Given the description of an element on the screen output the (x, y) to click on. 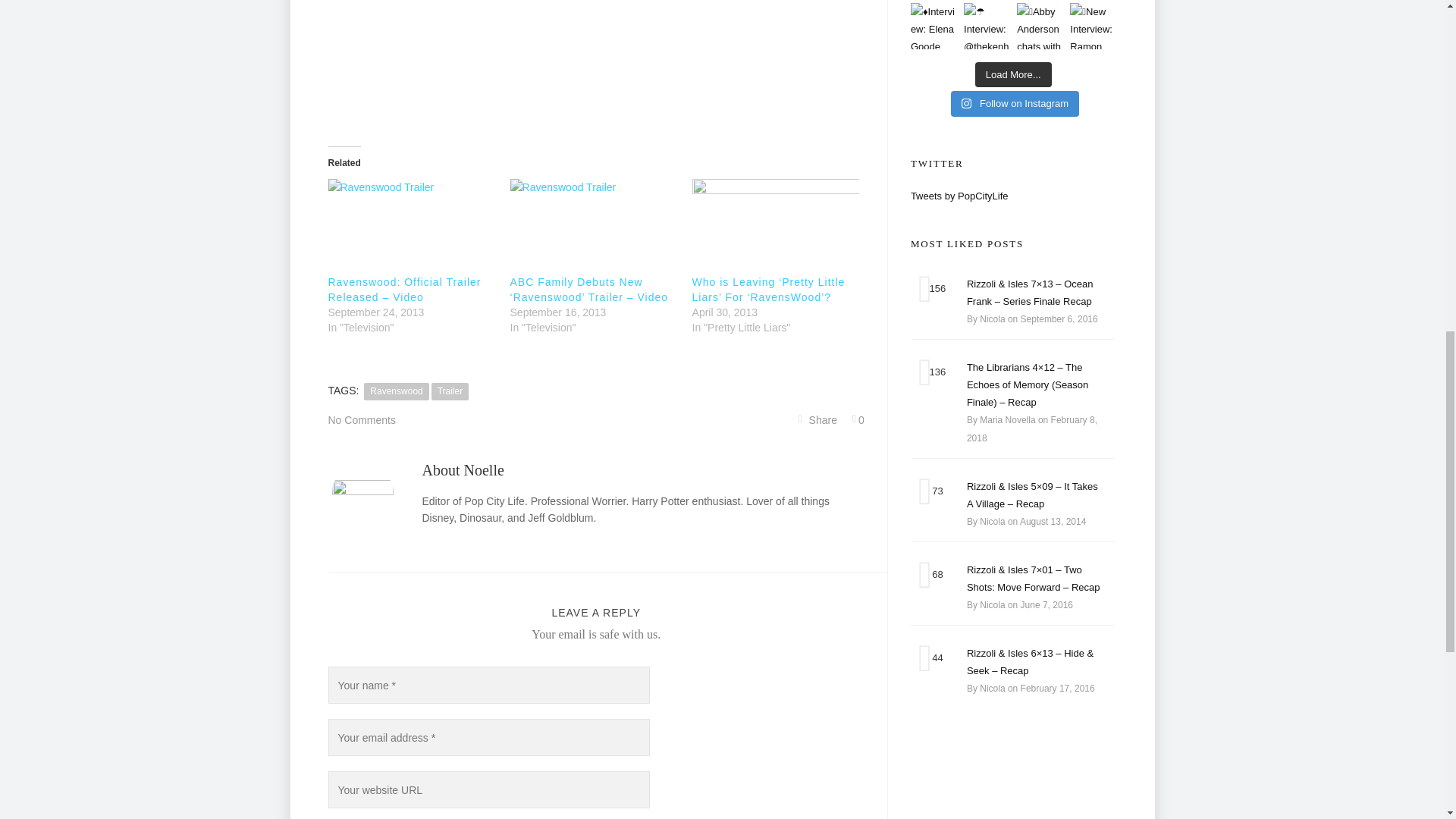
Ravenswood (396, 391)
Trailer (449, 391)
No Comments (360, 419)
No Comments (360, 419)
